Given the description of an element on the screen output the (x, y) to click on. 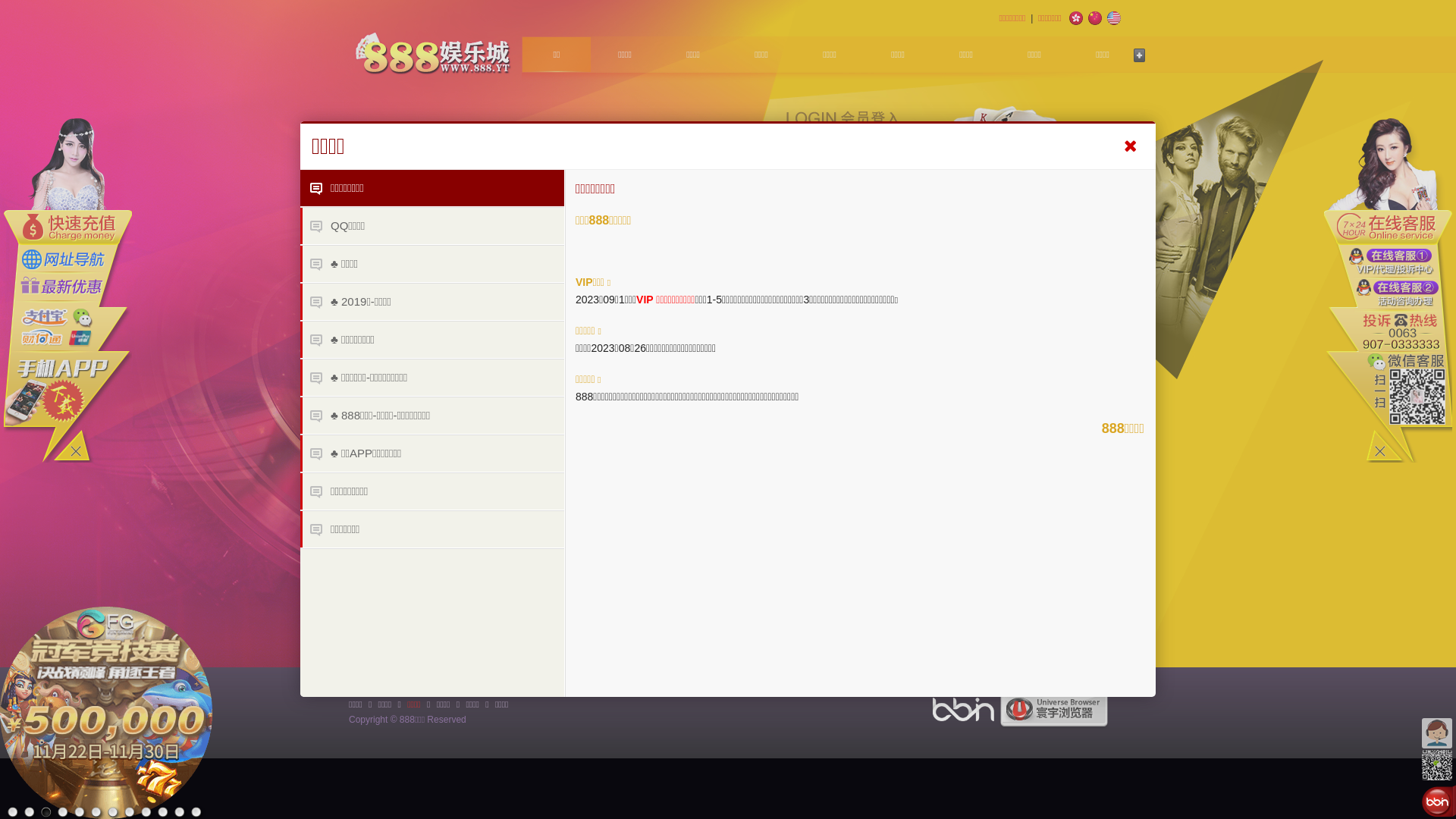
English Element type: hover (1113, 17)
